Given the description of an element on the screen output the (x, y) to click on. 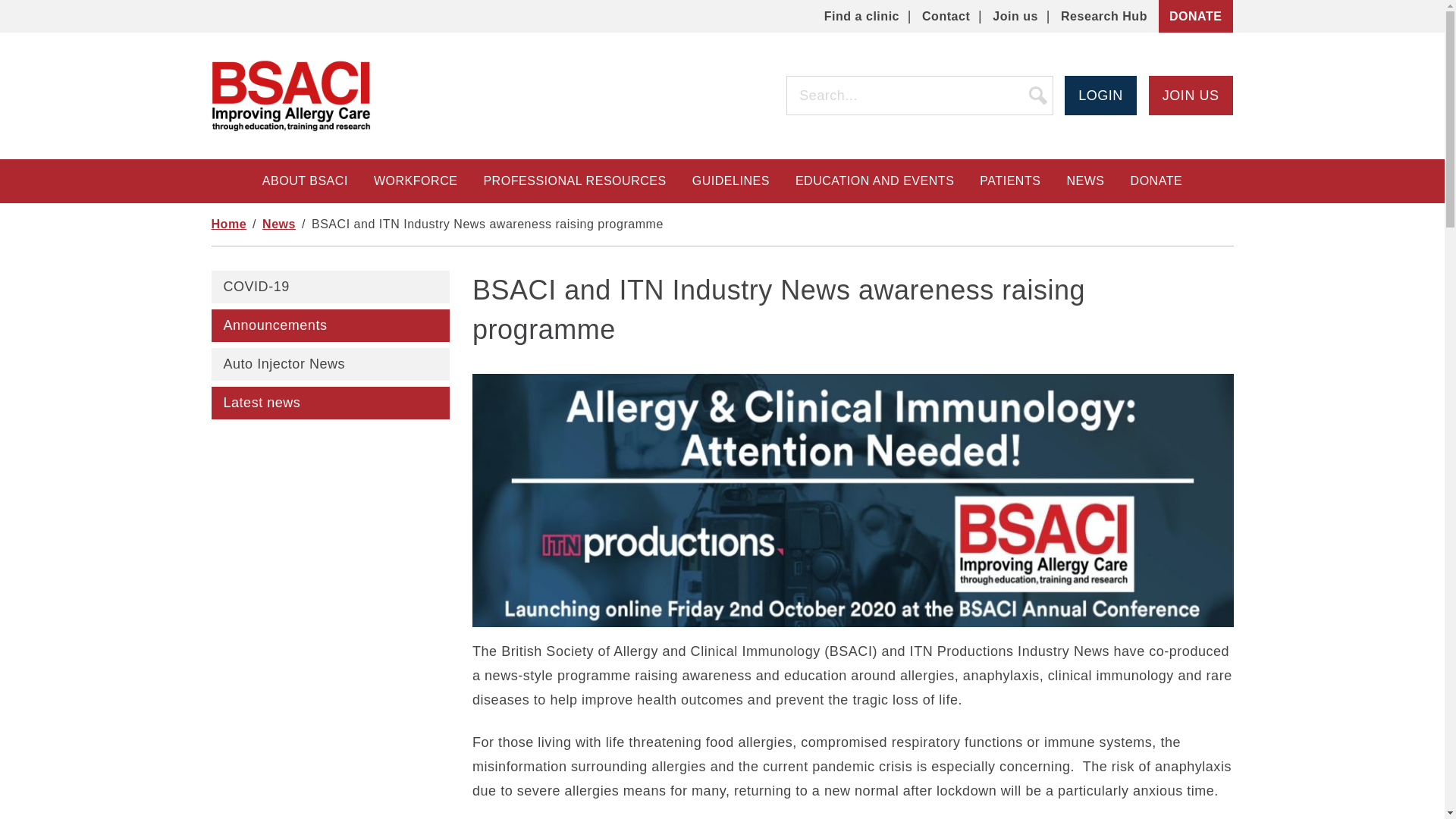
LOGIN (1100, 95)
WORKFORCE (415, 180)
DONATE (1195, 16)
Contact (945, 15)
Login (1100, 95)
JOIN US (1190, 95)
BSACI Home (290, 95)
PROFESSIONAL RESOURCES (574, 180)
Join us (1015, 15)
Research Hub (1104, 15)
